Given the description of an element on the screen output the (x, y) to click on. 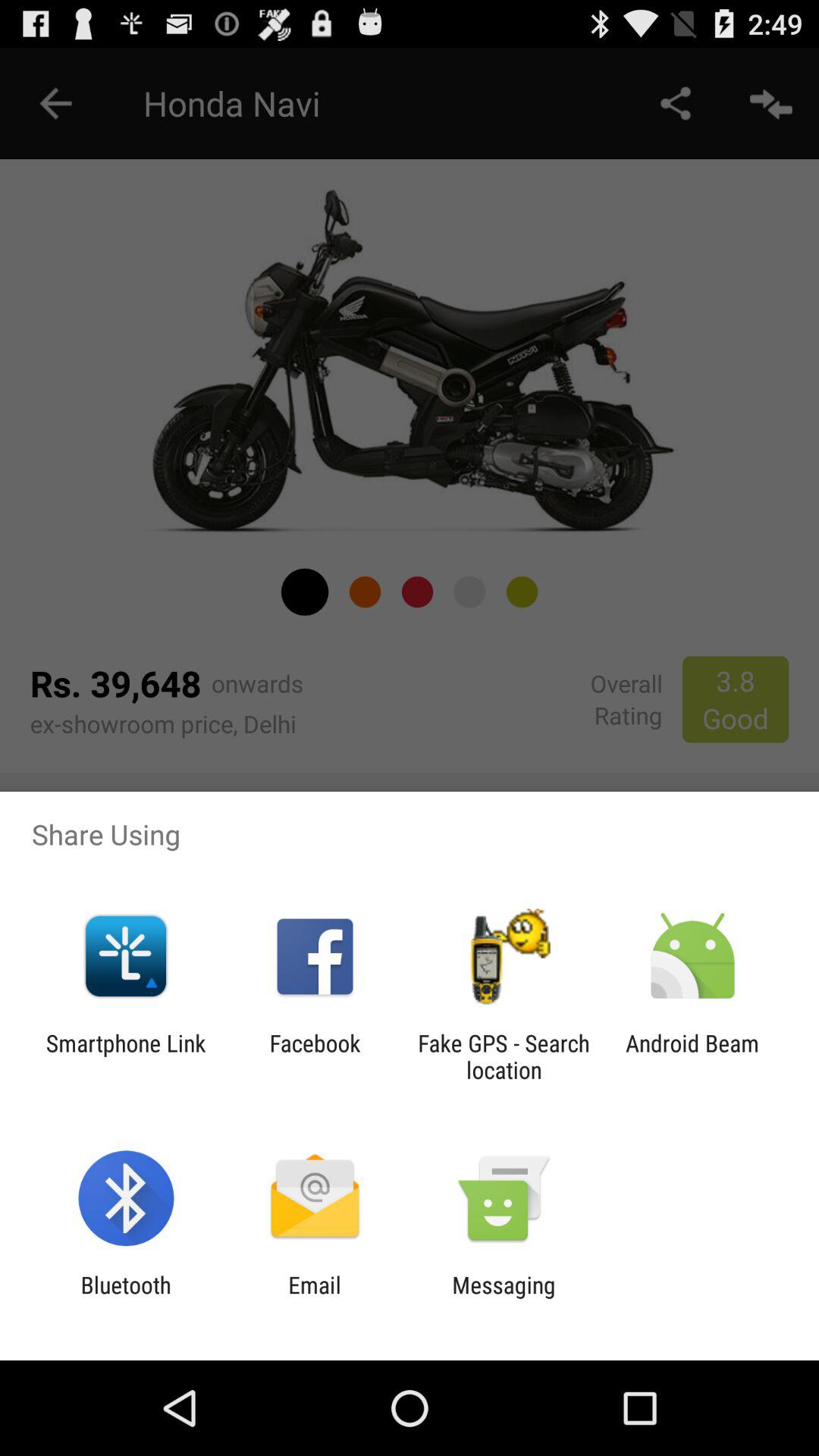
launch the icon next to fake gps search app (692, 1056)
